Given the description of an element on the screen output the (x, y) to click on. 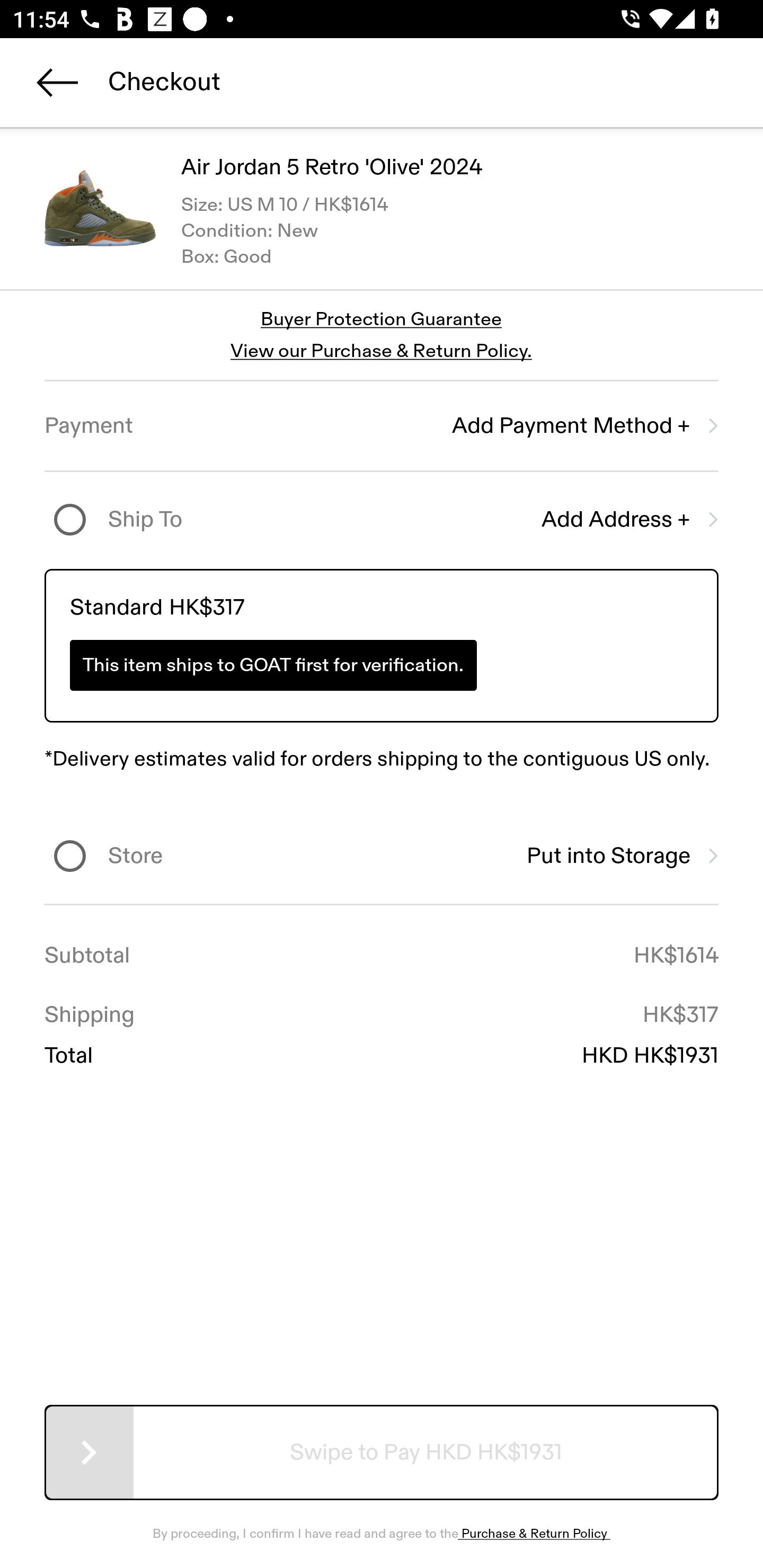
Navigate up (56, 82)
Buyer Protection Guarantee (381, 319)
View our Purchase & Return Policy. (380, 350)
Payment Add Payment Method + (381, 425)
